Given the description of an element on the screen output the (x, y) to click on. 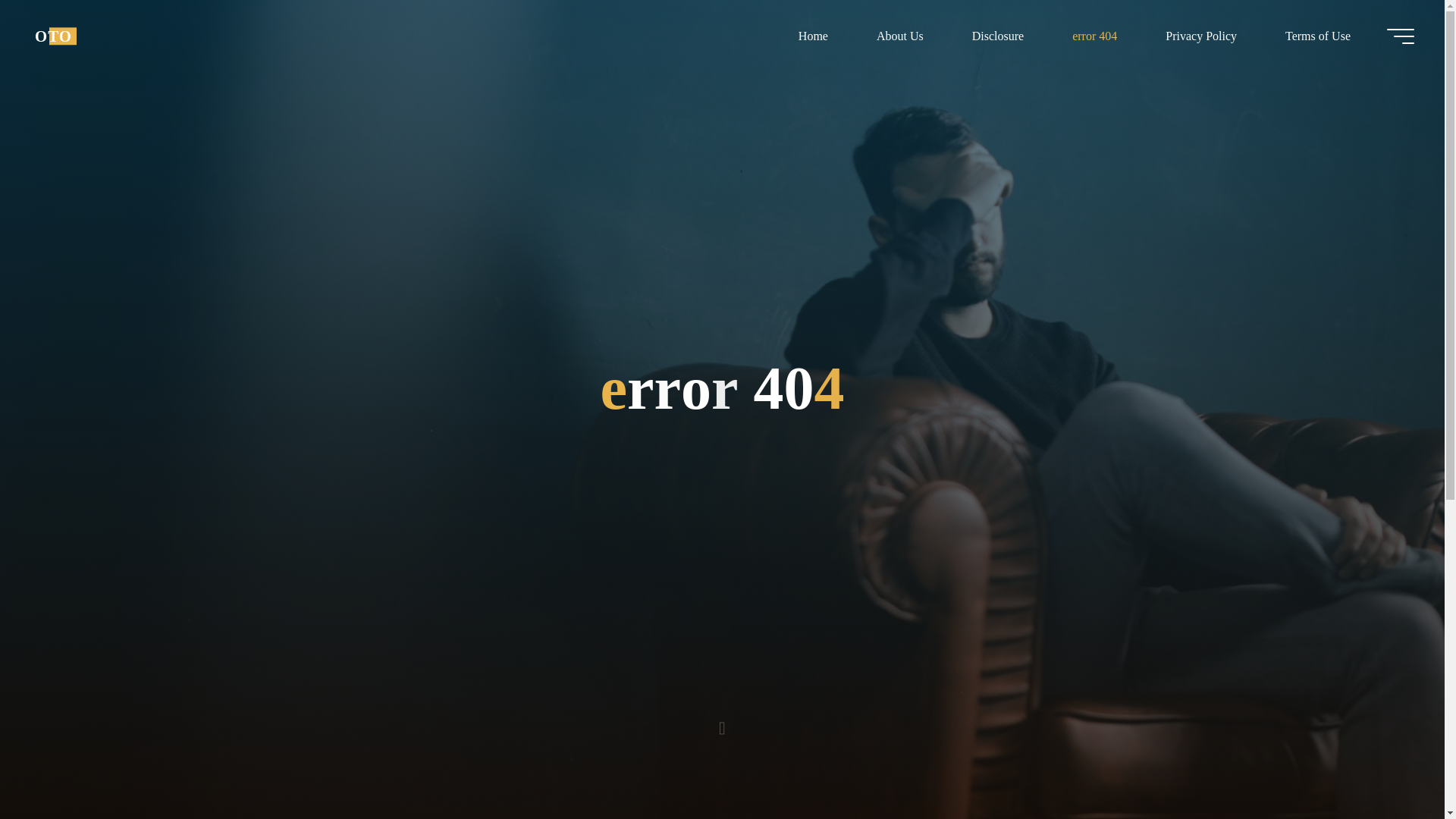
Read more (721, 724)
error 404 (1094, 35)
Disclosure (997, 35)
About Us (899, 35)
Terms of Use (1317, 35)
Home (812, 35)
Privacy Policy (1200, 35)
OTO (53, 36)
